Given the description of an element on the screen output the (x, y) to click on. 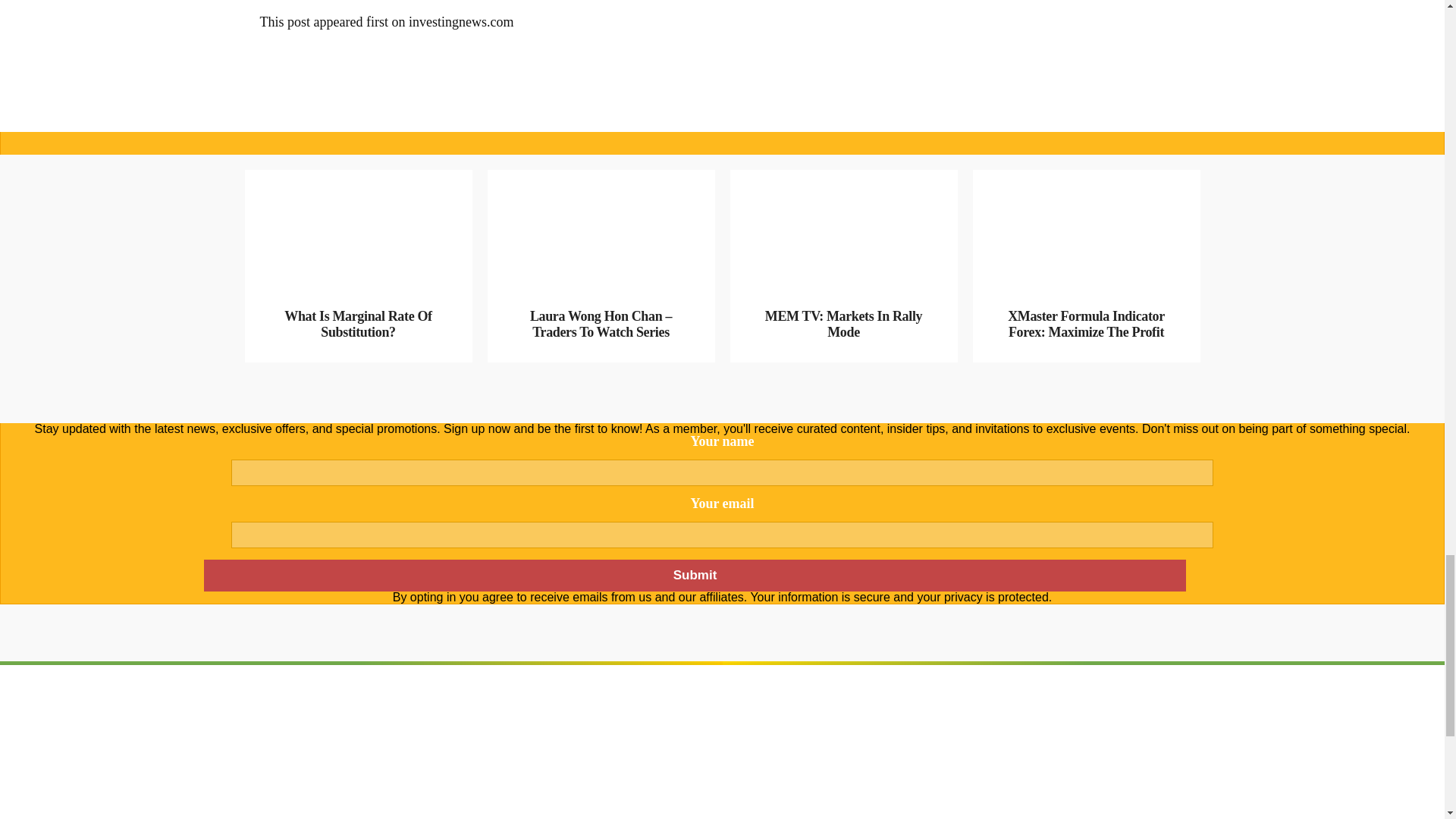
Submit (694, 575)
